Given the description of an element on the screen output the (x, y) to click on. 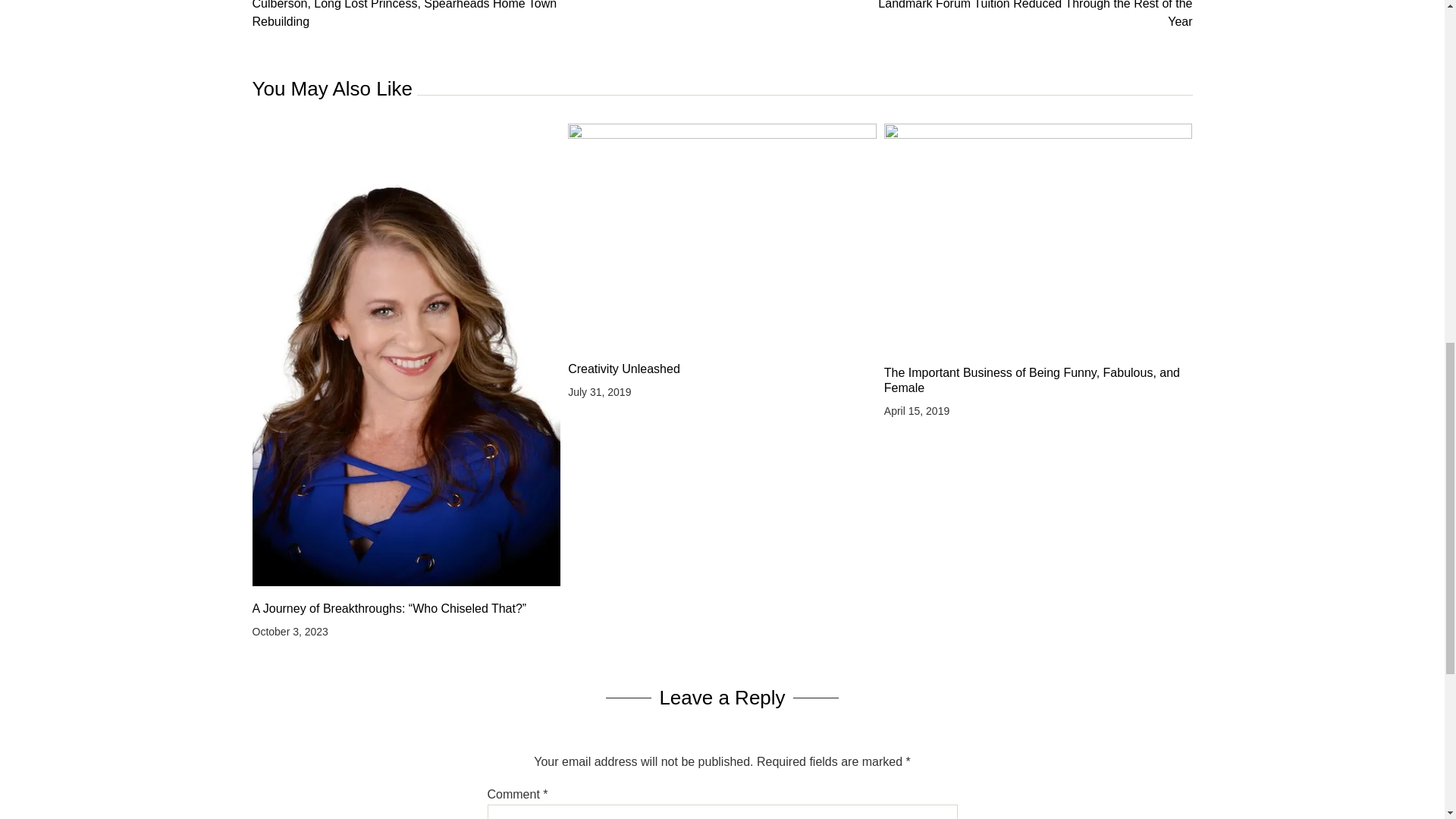
The Important Business of Being Funny, Fabulous, and Female (1037, 380)
Creativity Unleashed (721, 368)
